Given the description of an element on the screen output the (x, y) to click on. 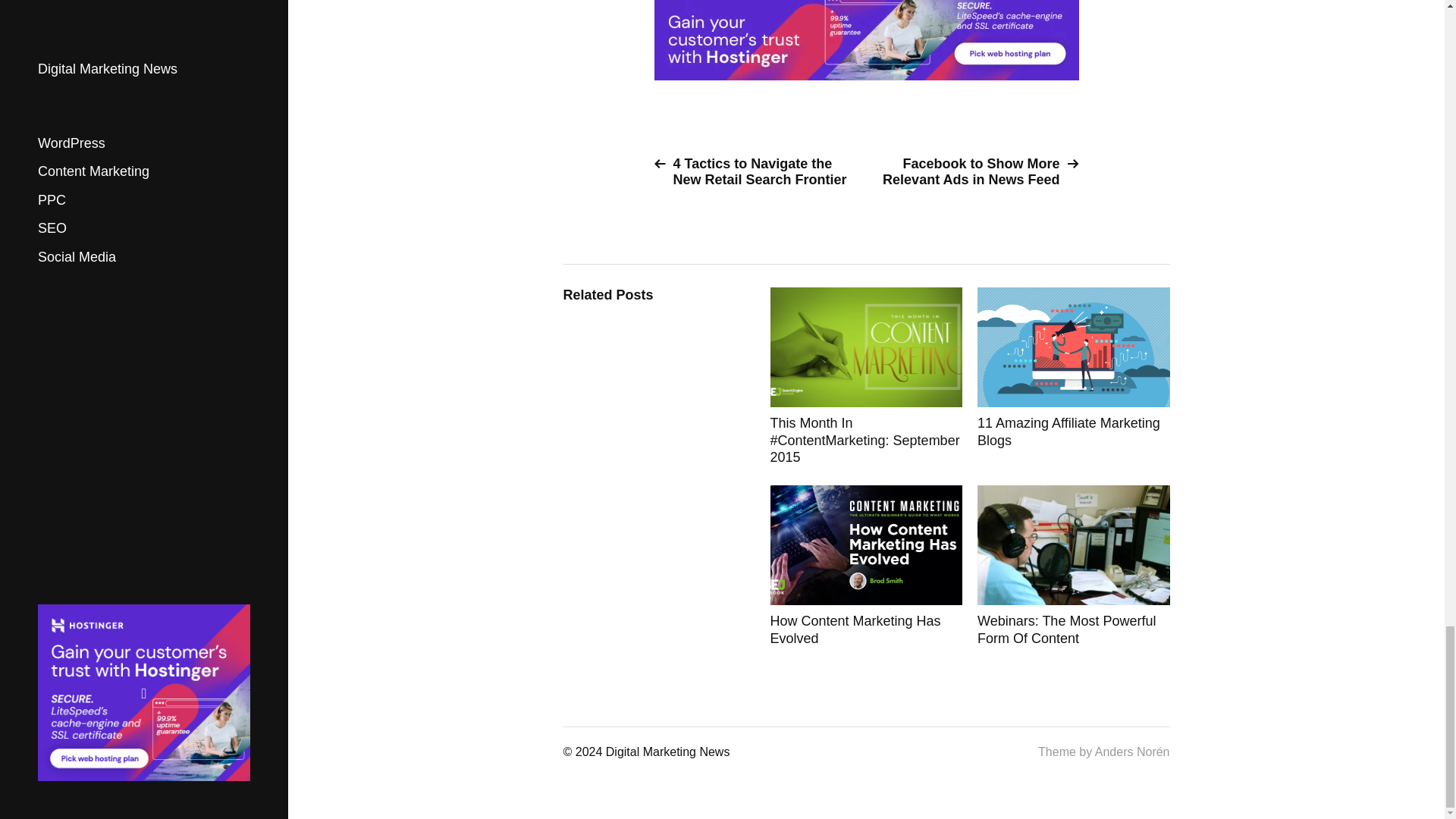
11 Amazing Affiliate Marketing Blogs (1073, 376)
How Content Marketing Has Evolved (866, 566)
Digital Marketing News (667, 752)
Webinars: The Most Powerful Form Of Content (1073, 566)
Facebook to Show More Relevant Ads in News Feed (977, 172)
4 Tactics to Navigate the New Retail Search Frontier (753, 172)
